Given the description of an element on the screen output the (x, y) to click on. 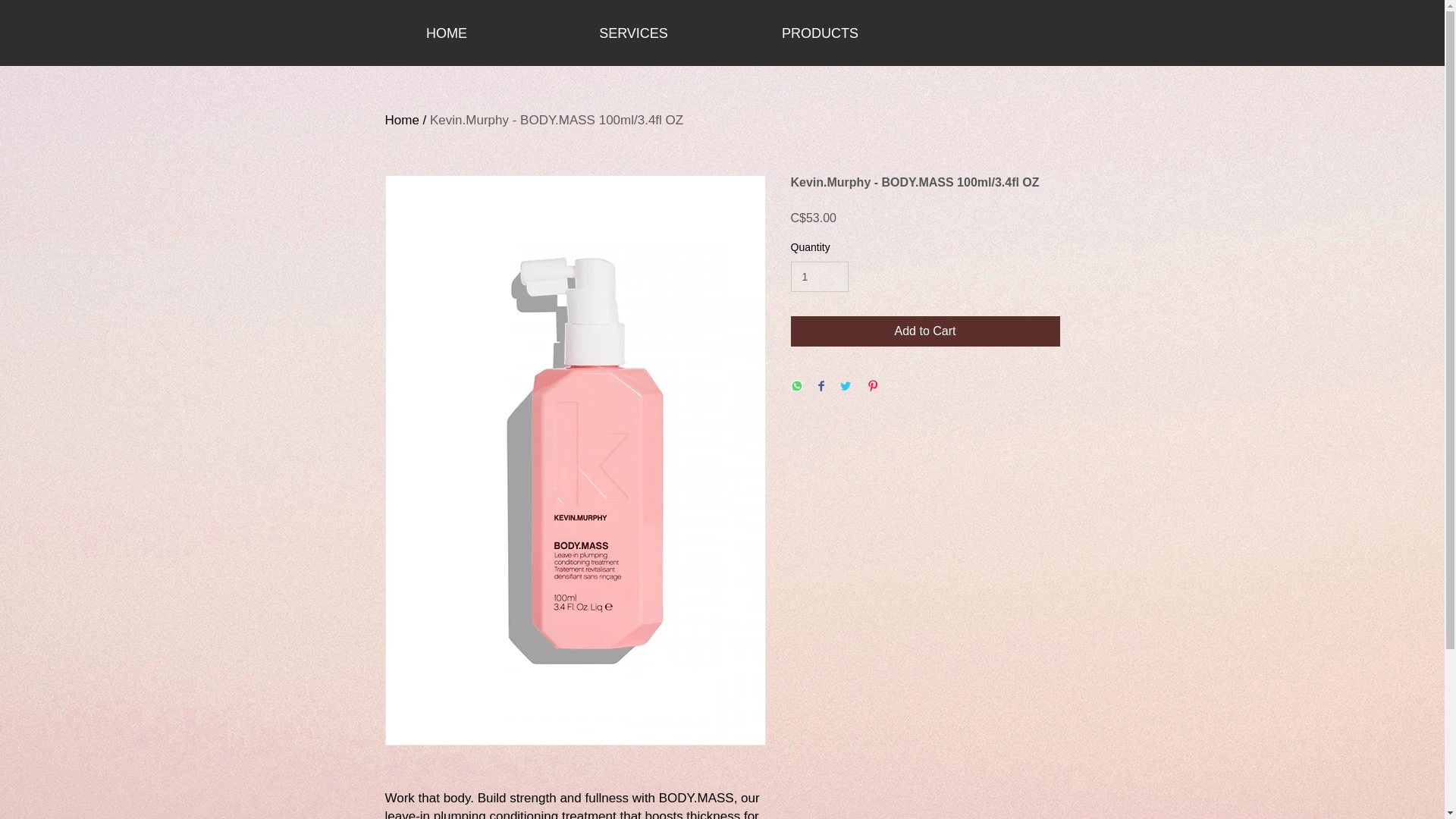
HOME (446, 33)
PRODUCTS (819, 33)
Home (402, 120)
Add to Cart (924, 331)
SERVICES (633, 33)
1 (818, 276)
